Given the description of an element on the screen output the (x, y) to click on. 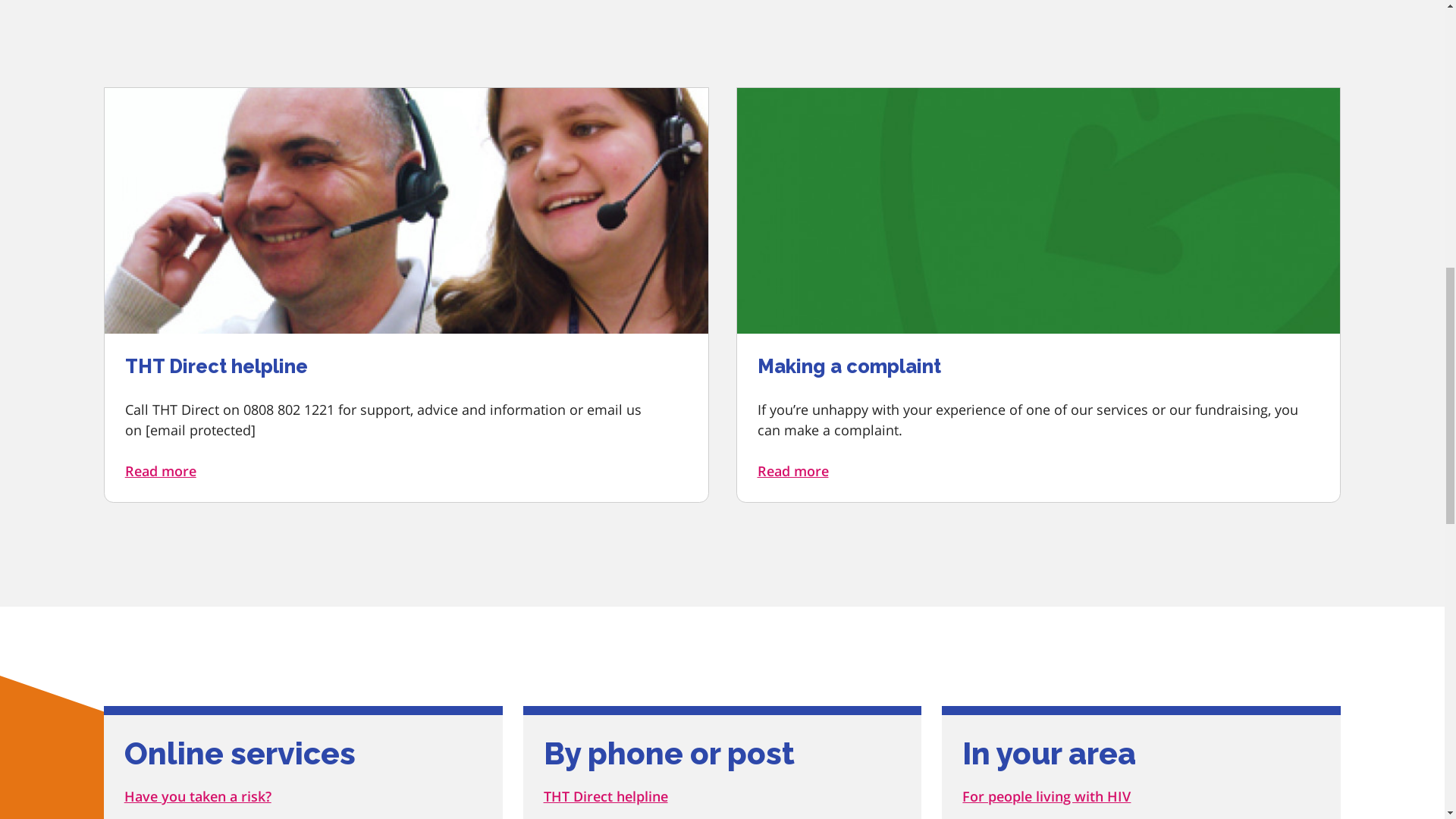
THT Direct helpline (605, 796)
Have you taken a risk? (196, 796)
For people living with HIV (1046, 796)
